Given the description of an element on the screen output the (x, y) to click on. 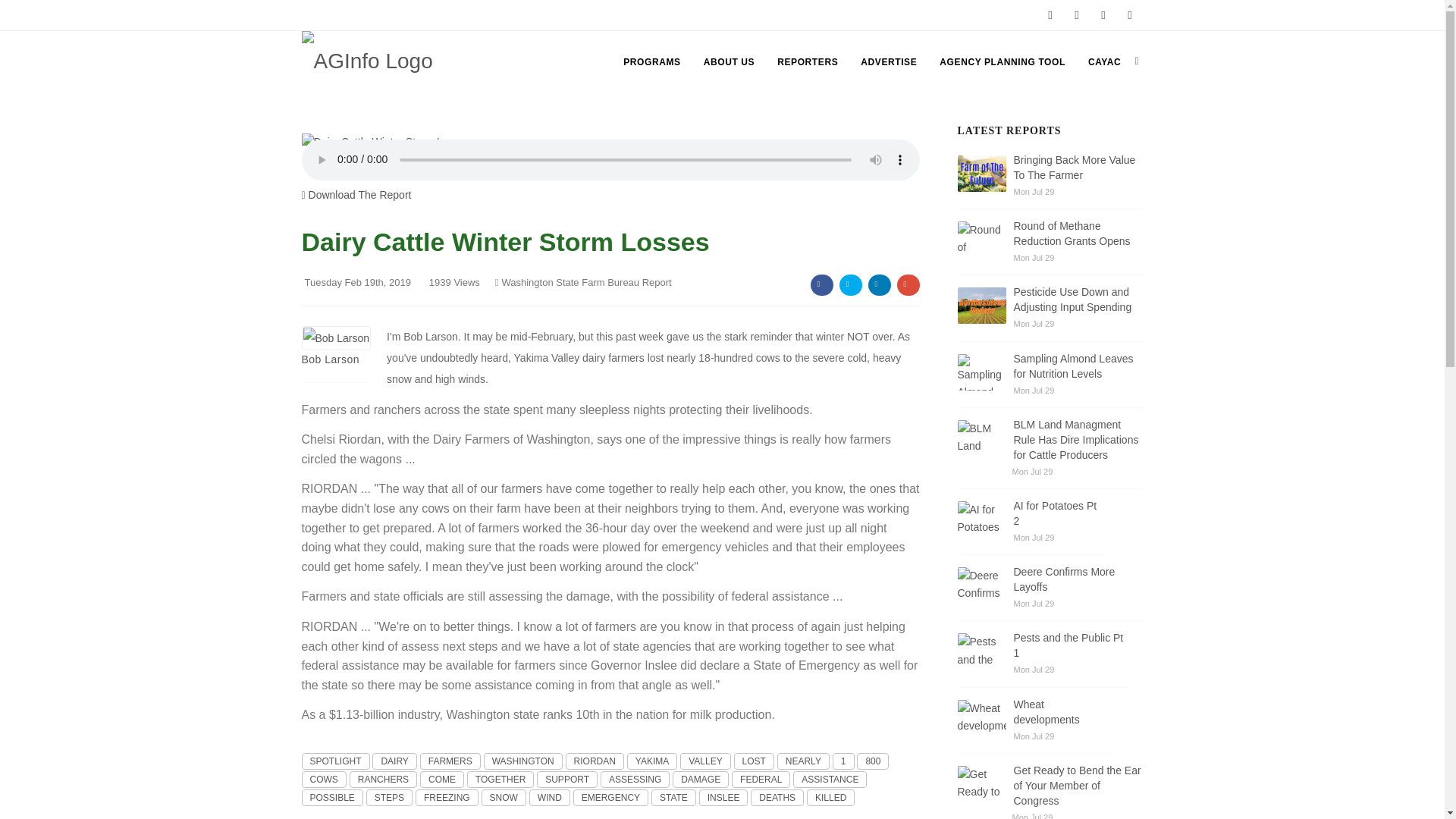
ABOUT US (728, 62)
PROGRAMS (651, 62)
